Given the description of an element on the screen output the (x, y) to click on. 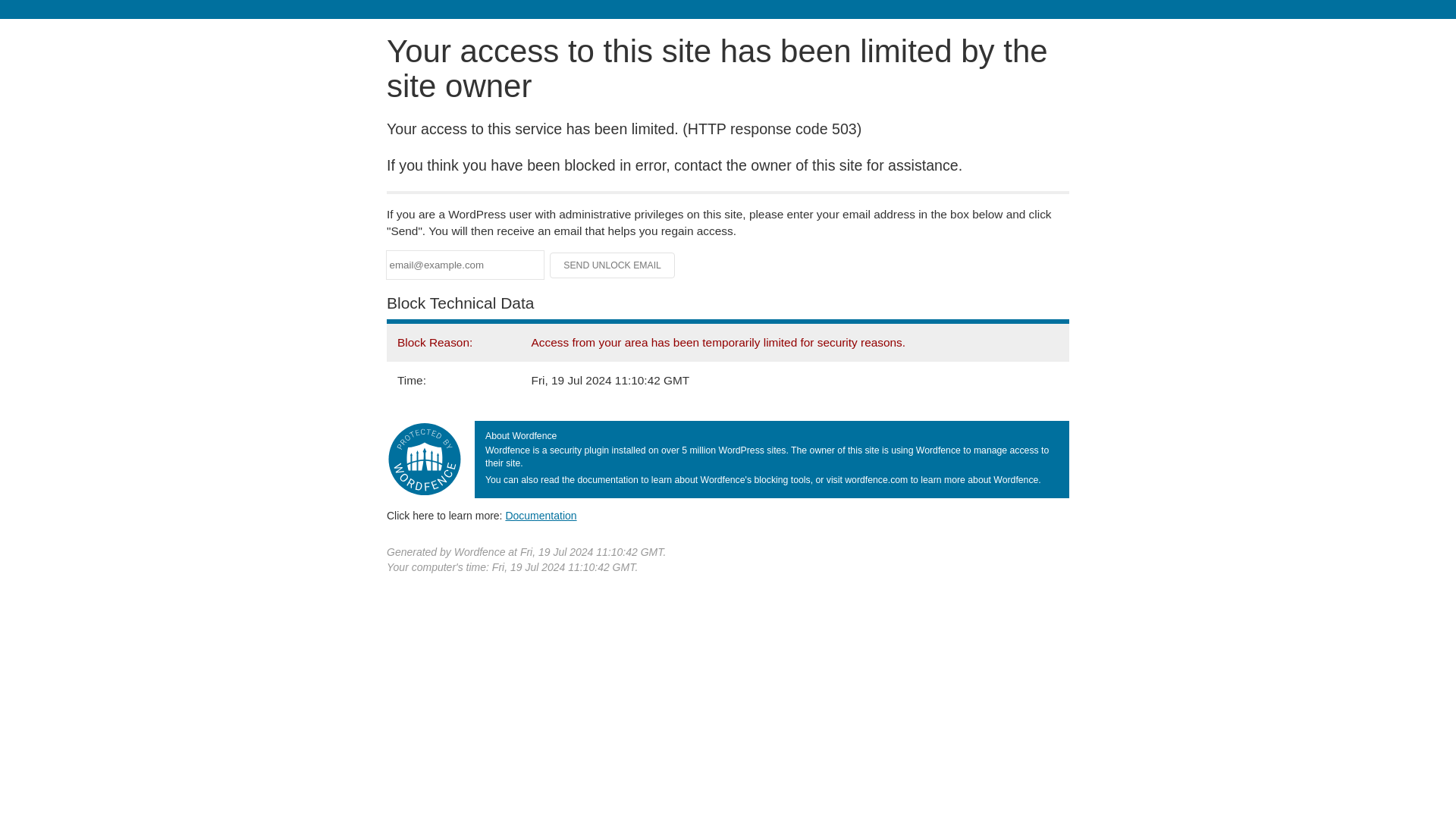
Send Unlock Email (612, 265)
Send Unlock Email (612, 265)
Documentation (540, 515)
